Given the description of an element on the screen output the (x, y) to click on. 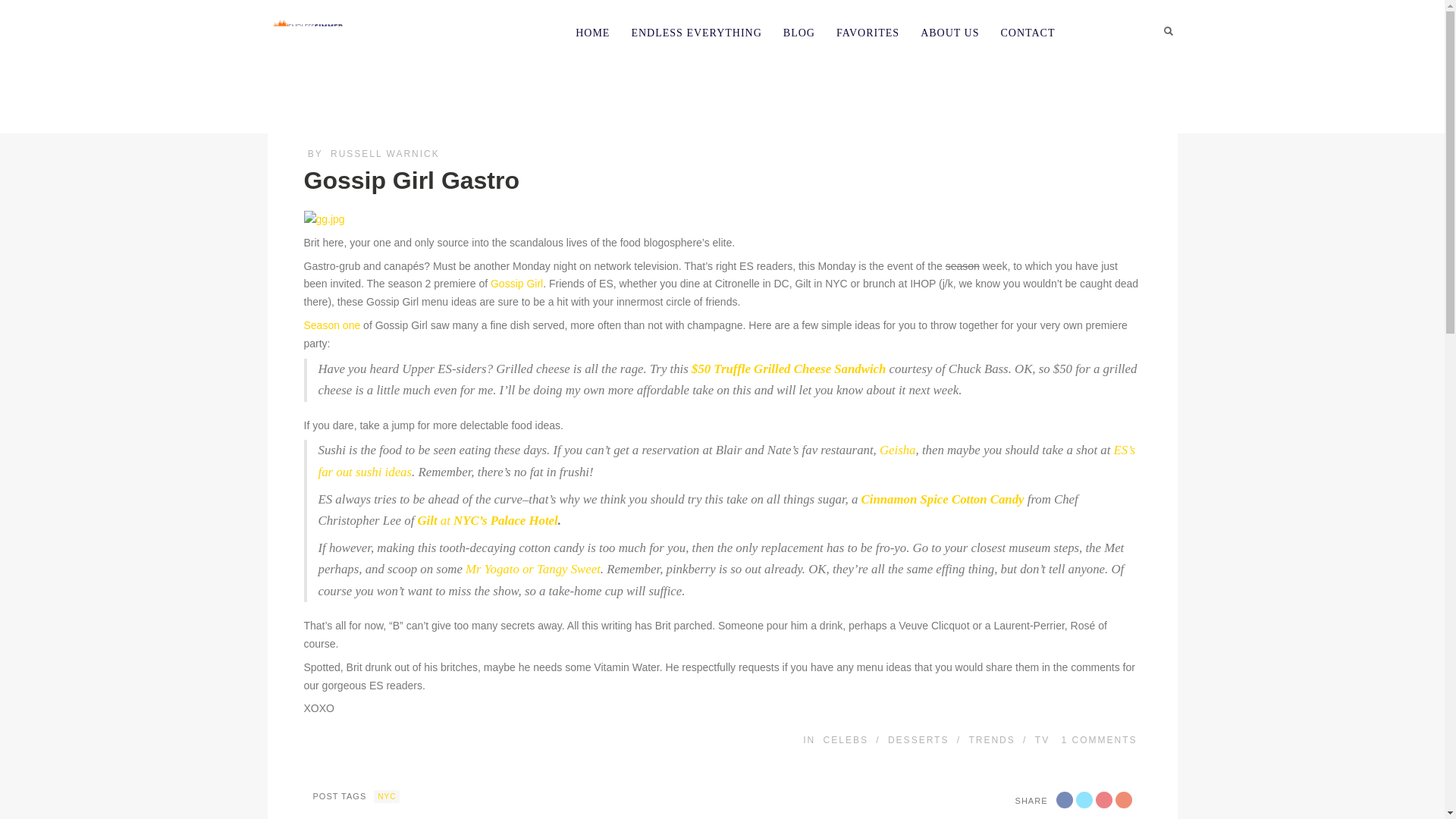
TRENDS (991, 739)
Search (1167, 31)
ABOUT US (950, 33)
RUSSELL WARNICK (384, 153)
FAVORITES (867, 33)
HOME (592, 33)
Facebook (1063, 799)
Season one (330, 325)
BLOG (799, 33)
Geisha (897, 450)
